Given the description of an element on the screen output the (x, y) to click on. 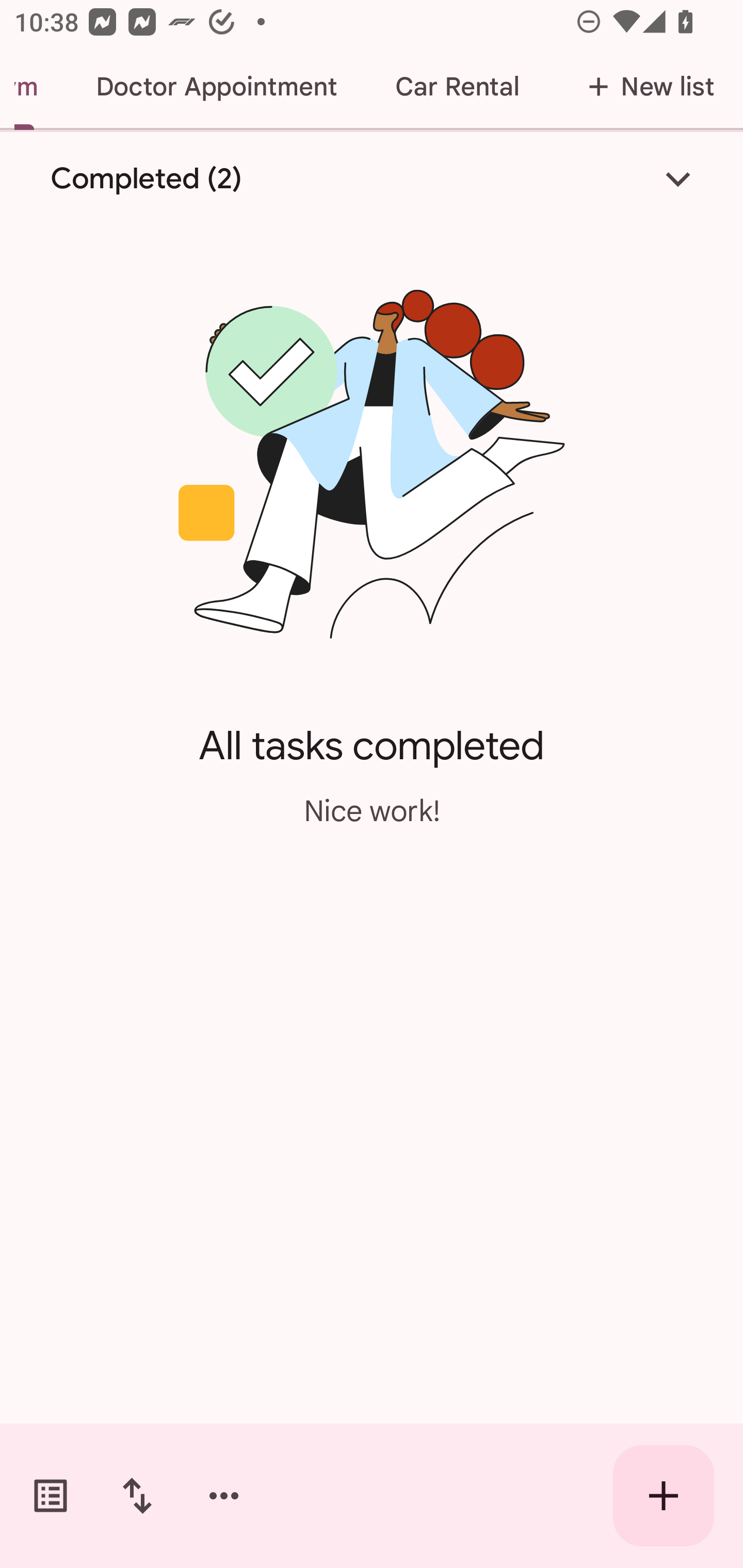
Doctor Appointment (215, 86)
Car Rental (456, 86)
New list (645, 86)
Completed (2) (371, 178)
Switch task lists (50, 1495)
Create new task (663, 1495)
Change sort order (136, 1495)
More options (223, 1495)
